Given the description of an element on the screen output the (x, y) to click on. 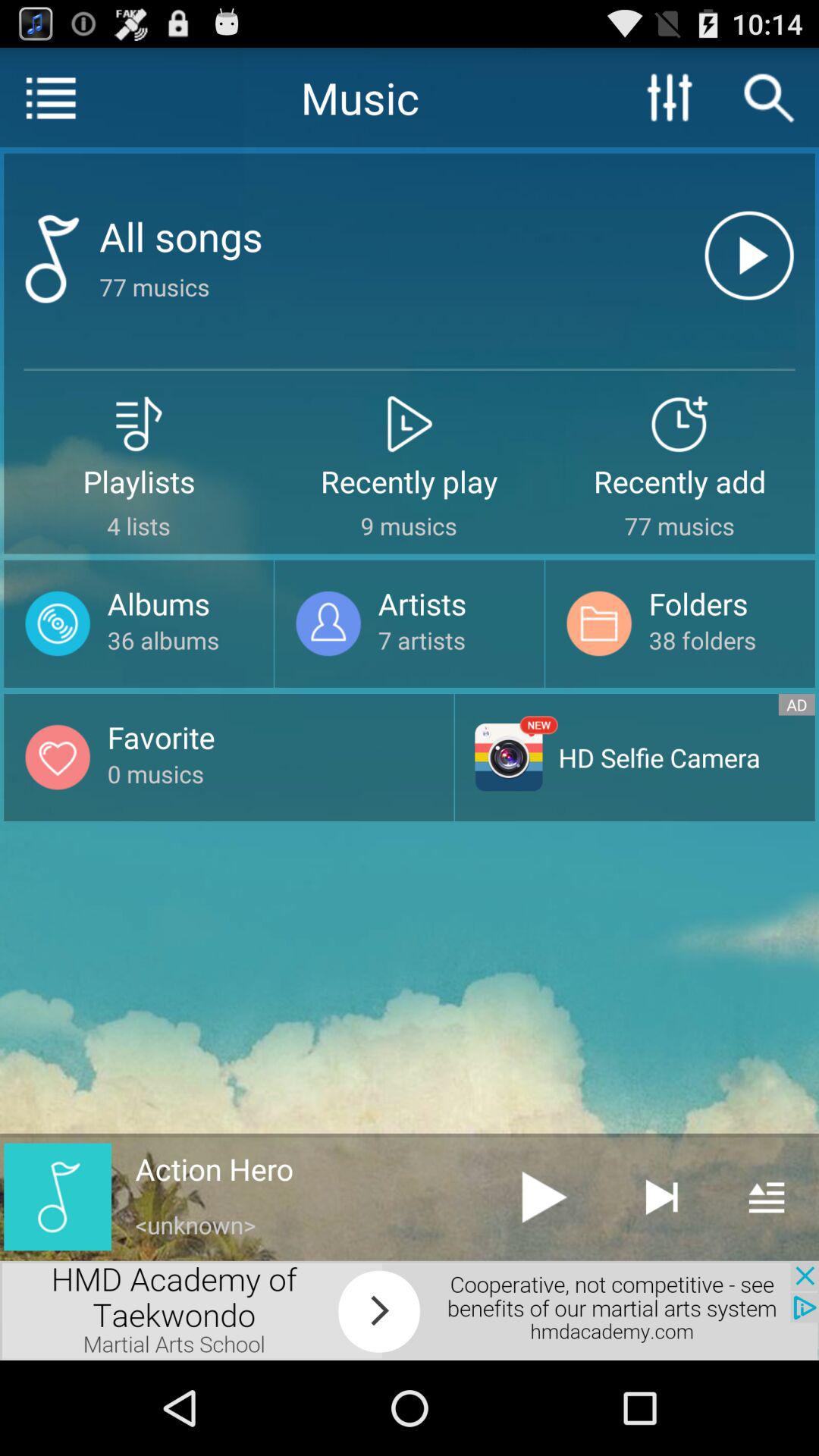
click on the icon beside albums (57, 623)
select the folder icon on the web page (599, 623)
click the icon left to search icon at right top corner of page (669, 97)
